Given the description of an element on the screen output the (x, y) to click on. 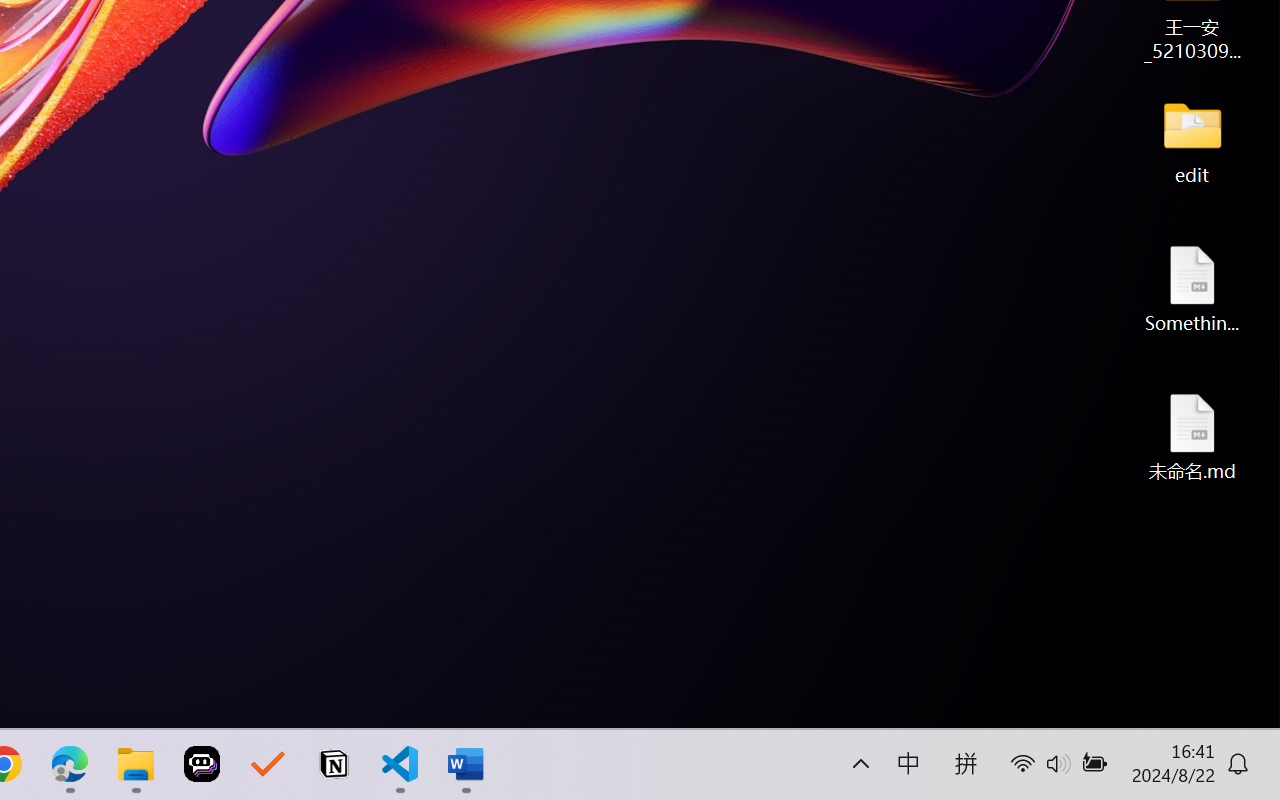
Something.md (1192, 288)
